Given the description of an element on the screen output the (x, y) to click on. 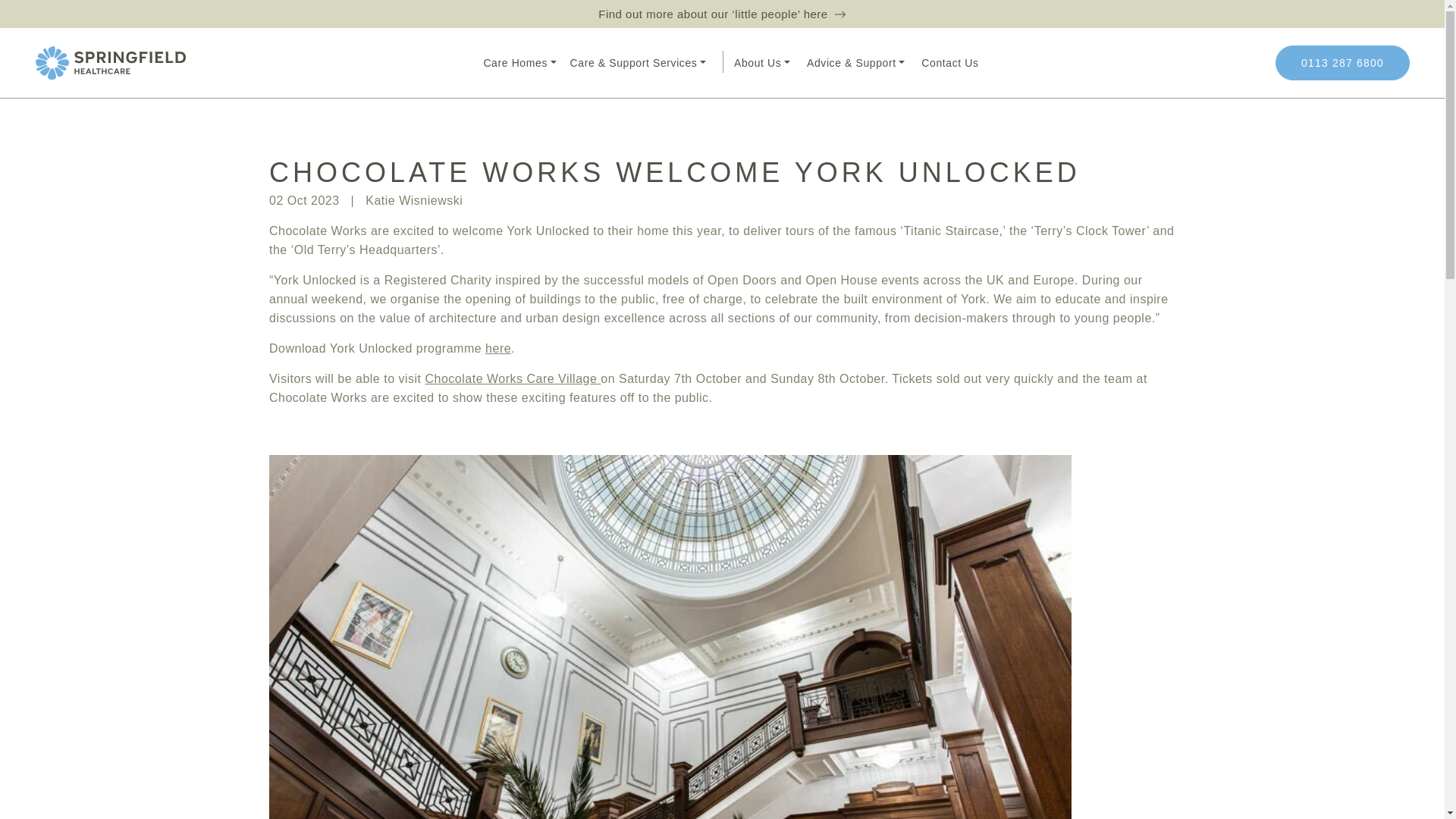
About Us (762, 63)
Care Homes (519, 63)
